Given the description of an element on the screen output the (x, y) to click on. 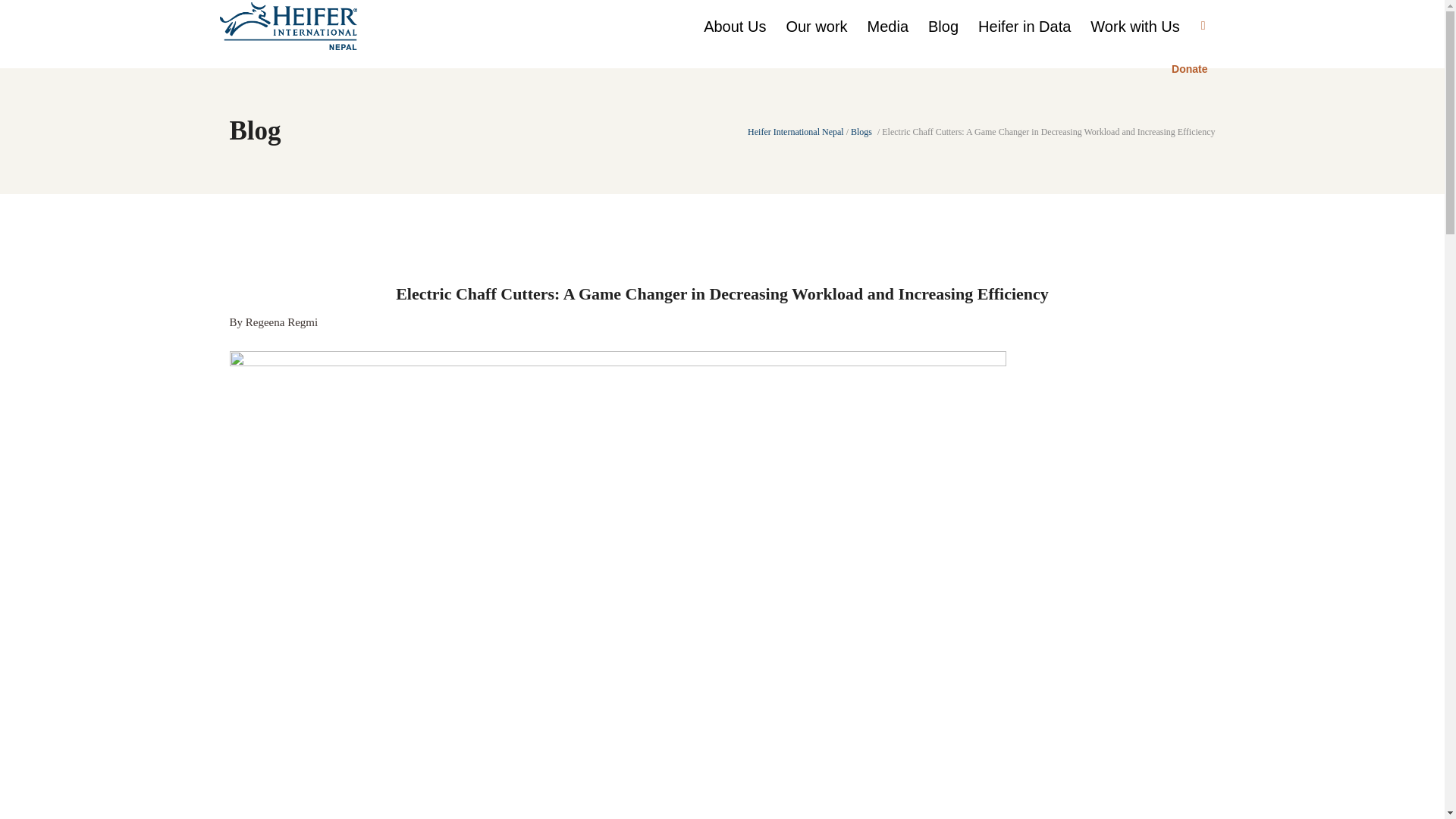
Work with Us (1134, 26)
Our work (816, 26)
Blog (943, 26)
Heifer in Data (1024, 26)
Donate (1189, 69)
Media (887, 26)
About Us (735, 26)
